Given the description of an element on the screen output the (x, y) to click on. 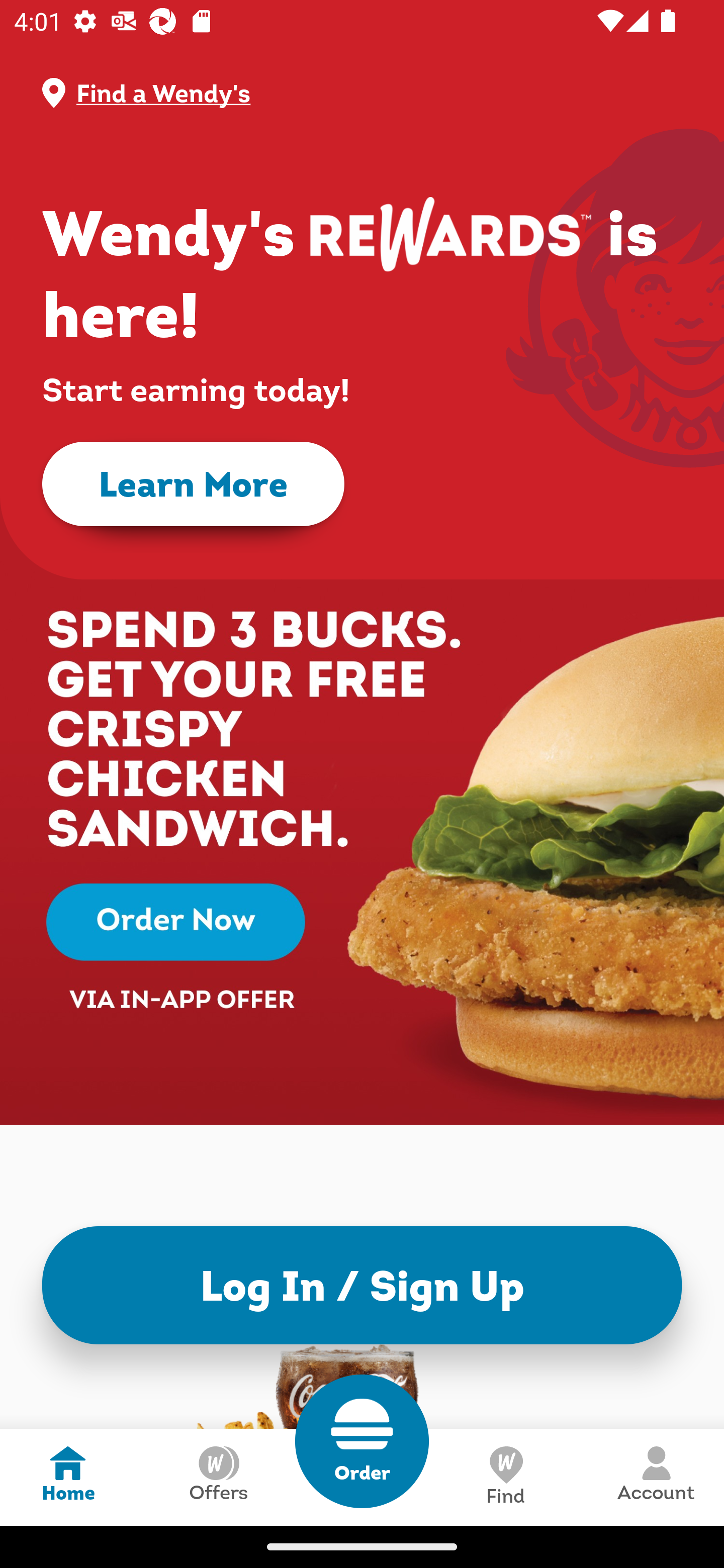
Find a Wendy's (378, 92)
Learn More (192, 484)
Campaign image (362, 807)
Log In / Sign Up (361, 1284)
Order,3 of 5 Order (361, 1441)
Home,1 of 5 Home (68, 1476)
Rewards,2 of 5 Offers Offers (218, 1476)
Scan,4 of 5 Find Find (505, 1476)
Account,5 of 5 Account (655, 1476)
